Given the description of an element on the screen output the (x, y) to click on. 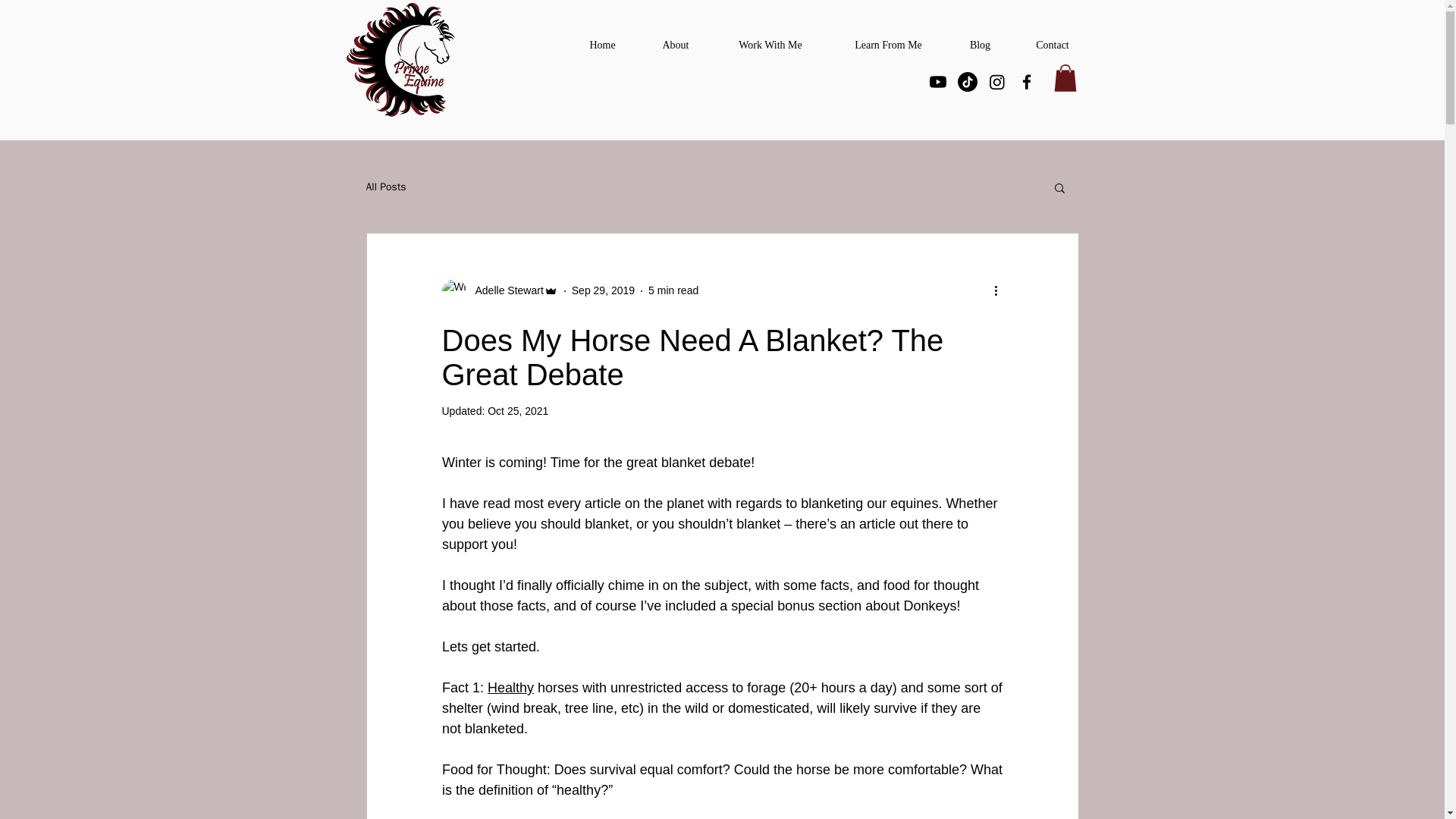
Work With Me (770, 45)
Blog (979, 45)
Adelle Stewart (499, 291)
Adelle Stewart (504, 290)
Learn From Me (887, 45)
Sep 29, 2019 (603, 290)
Oct 25, 2021 (517, 410)
Home (602, 45)
All Posts (385, 187)
Contact (1052, 45)
